Given the description of an element on the screen output the (x, y) to click on. 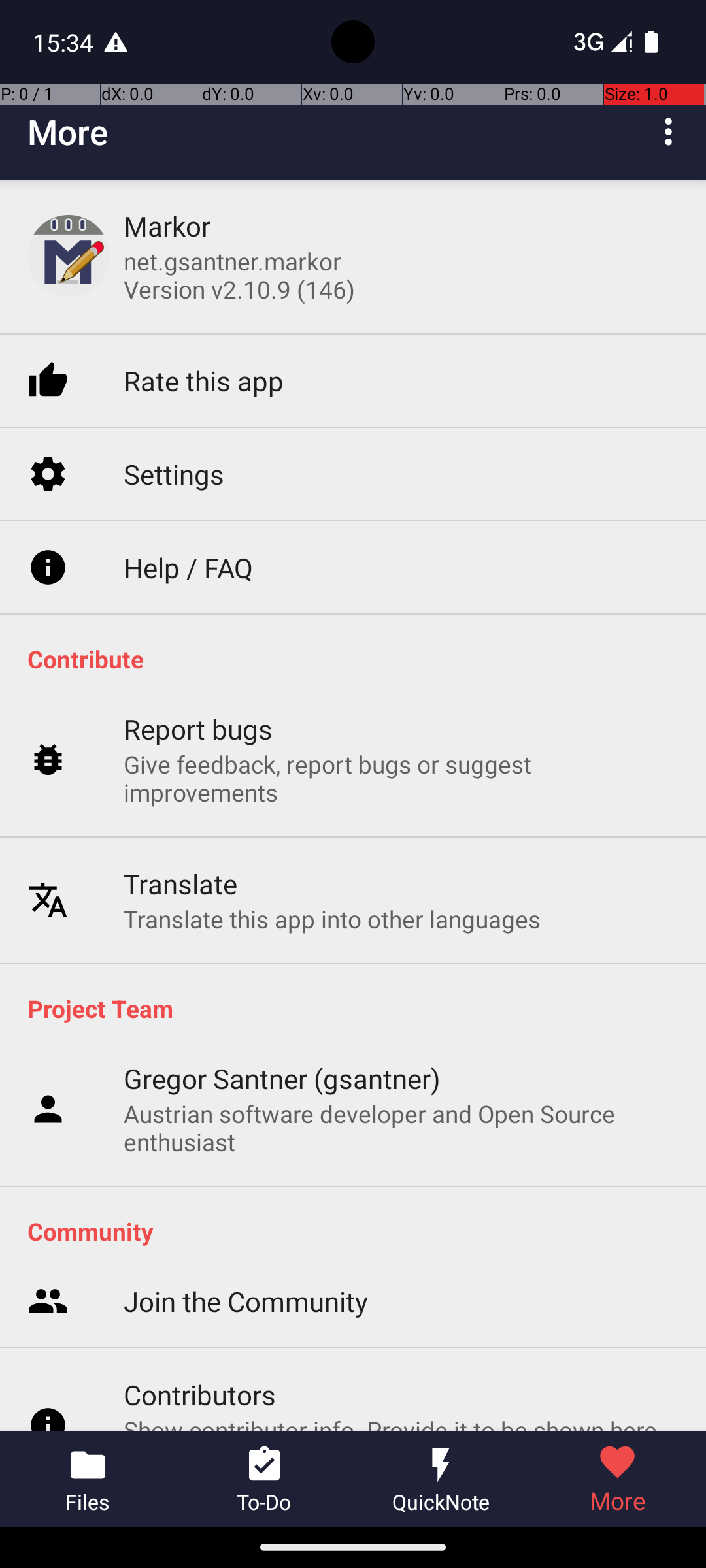
Contribute Element type: android.widget.TextView (359, 658)
Project Team Element type: android.widget.TextView (359, 1008)
Community Element type: android.widget.TextView (359, 1230)
net.gsantner.markor
Version v2.10.9 (146) Element type: android.widget.TextView (239, 274)
Rate this app Element type: android.widget.TextView (203, 380)
Help / FAQ Element type: android.widget.TextView (188, 567)
Report bugs Element type: android.widget.TextView (198, 728)
Give feedback, report bugs or suggest improvements Element type: android.widget.TextView (400, 777)
Translate Element type: android.widget.TextView (180, 883)
Translate this app into other languages Element type: android.widget.TextView (331, 918)
Gregor Santner (gsantner) Element type: android.widget.TextView (281, 1077)
Austrian software developer and Open Source enthusiast Element type: android.widget.TextView (400, 1127)
Join the Community Element type: android.widget.TextView (245, 1300)
Contributors Element type: android.widget.TextView (199, 1394)
Show contributor info. Provide it to be shown here on an opt-in basis after contributing Element type: android.widget.TextView (400, 1421)
